Given the description of an element on the screen output the (x, y) to click on. 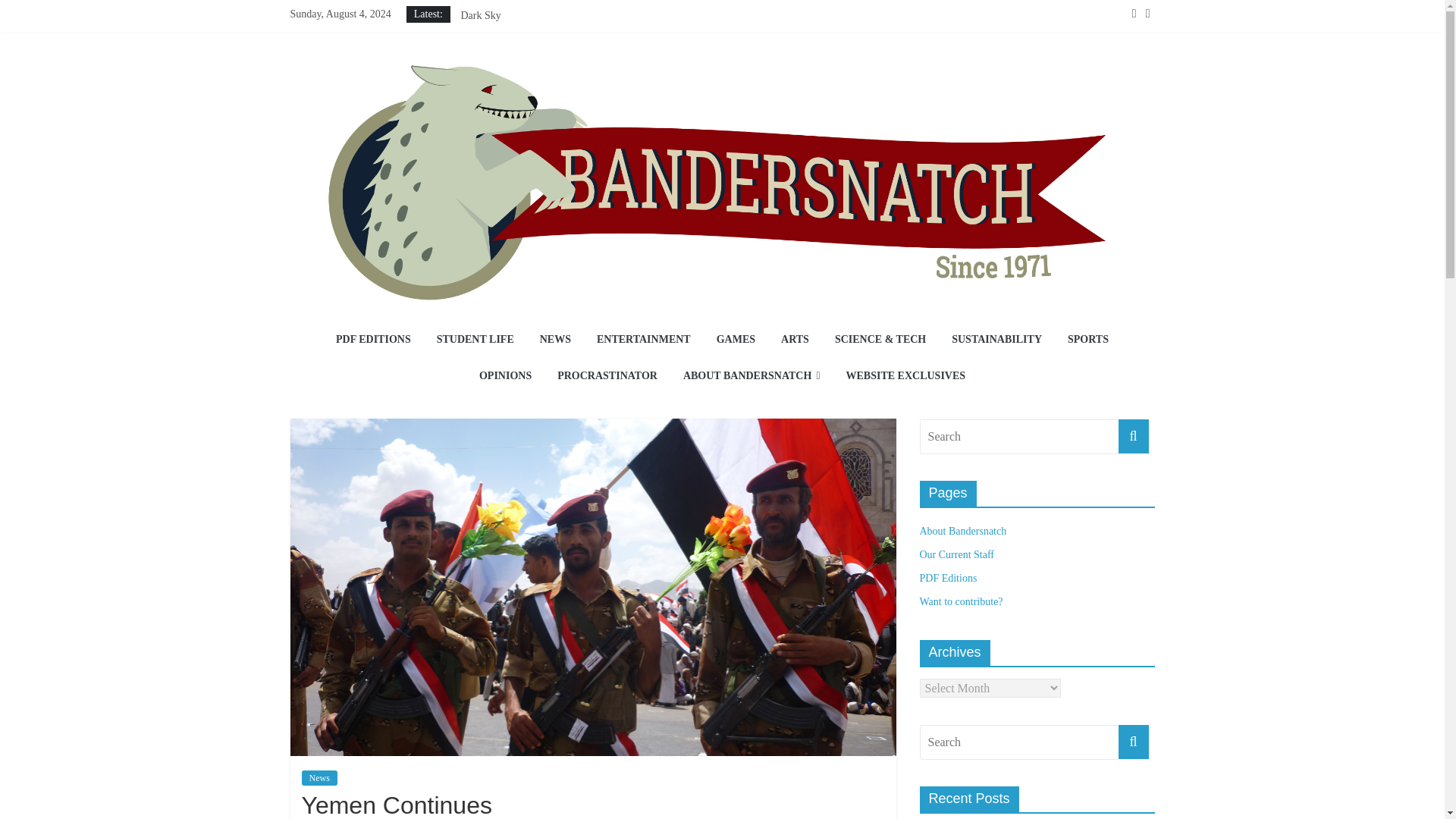
PROCRASTINATOR (607, 376)
NEWS (555, 340)
STUDENT LIFE (475, 340)
ABOUT BANDERSNATCH (751, 376)
Wildfires in Alberta (502, 2)
Lilypads (478, 49)
Sunset (473, 66)
Wildfires in Alberta (502, 2)
ARTS (795, 340)
GAMES (735, 340)
